Given the description of an element on the screen output the (x, y) to click on. 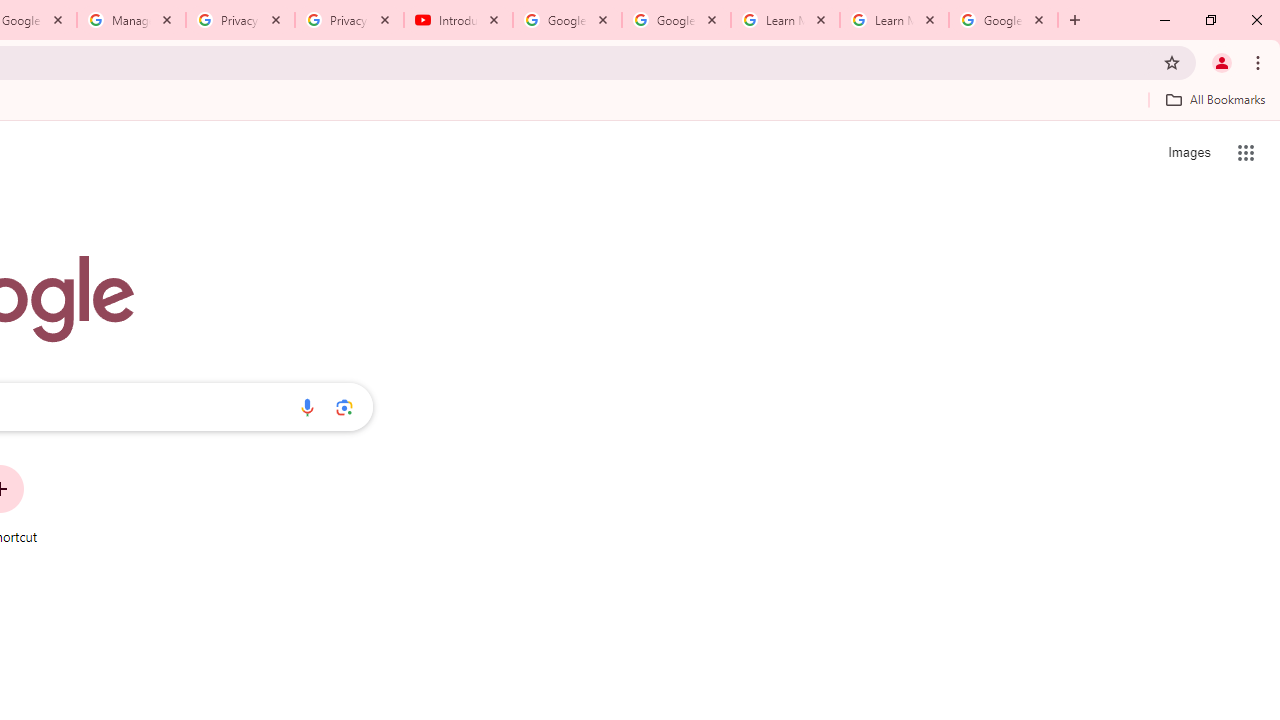
Google apps (1245, 152)
Search by voice (307, 407)
Search for Images  (1188, 152)
Google Account Help (567, 20)
All Bookmarks (1215, 99)
